Given the description of an element on the screen output the (x, y) to click on. 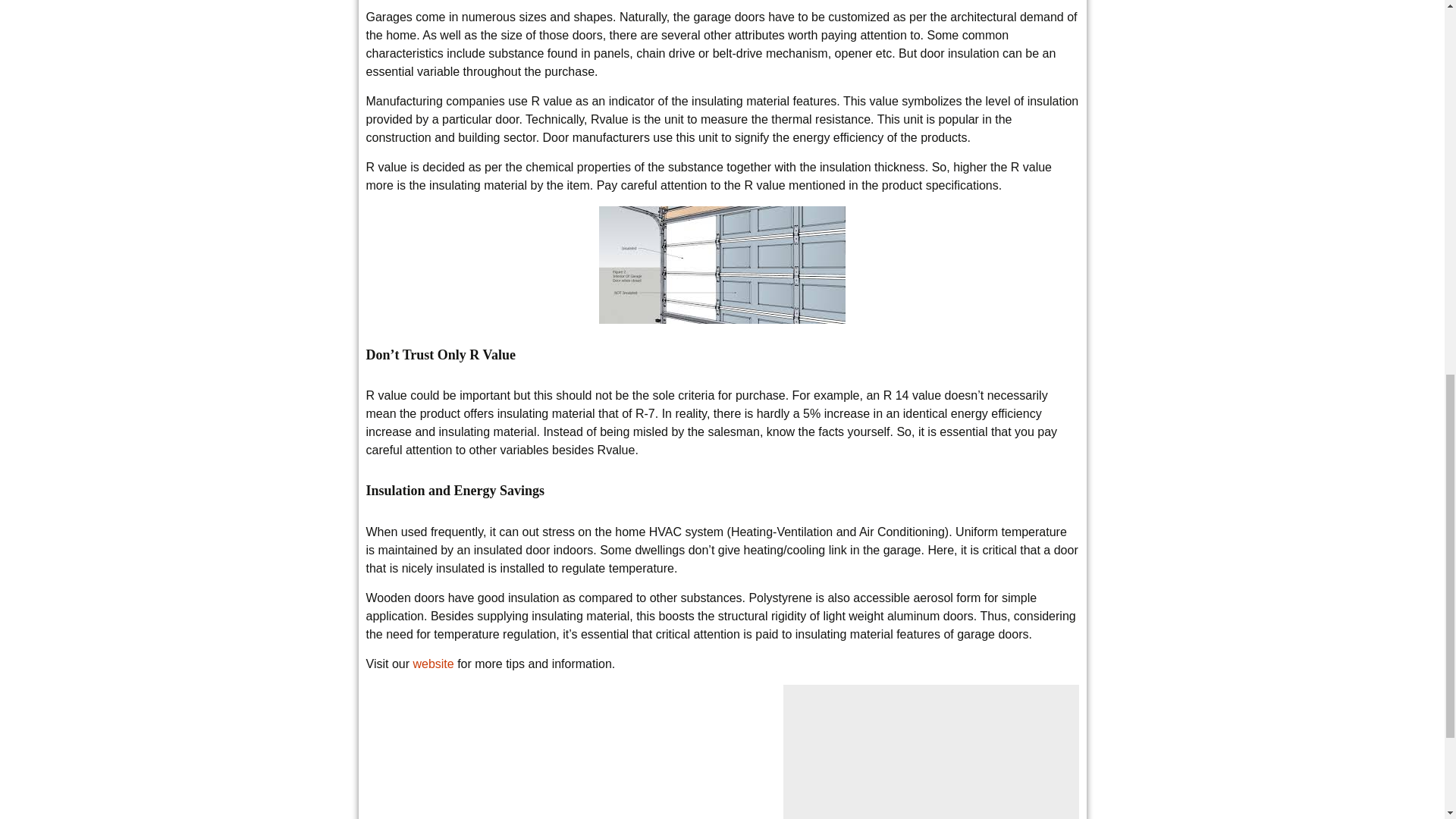
website (432, 663)
